Given the description of an element on the screen output the (x, y) to click on. 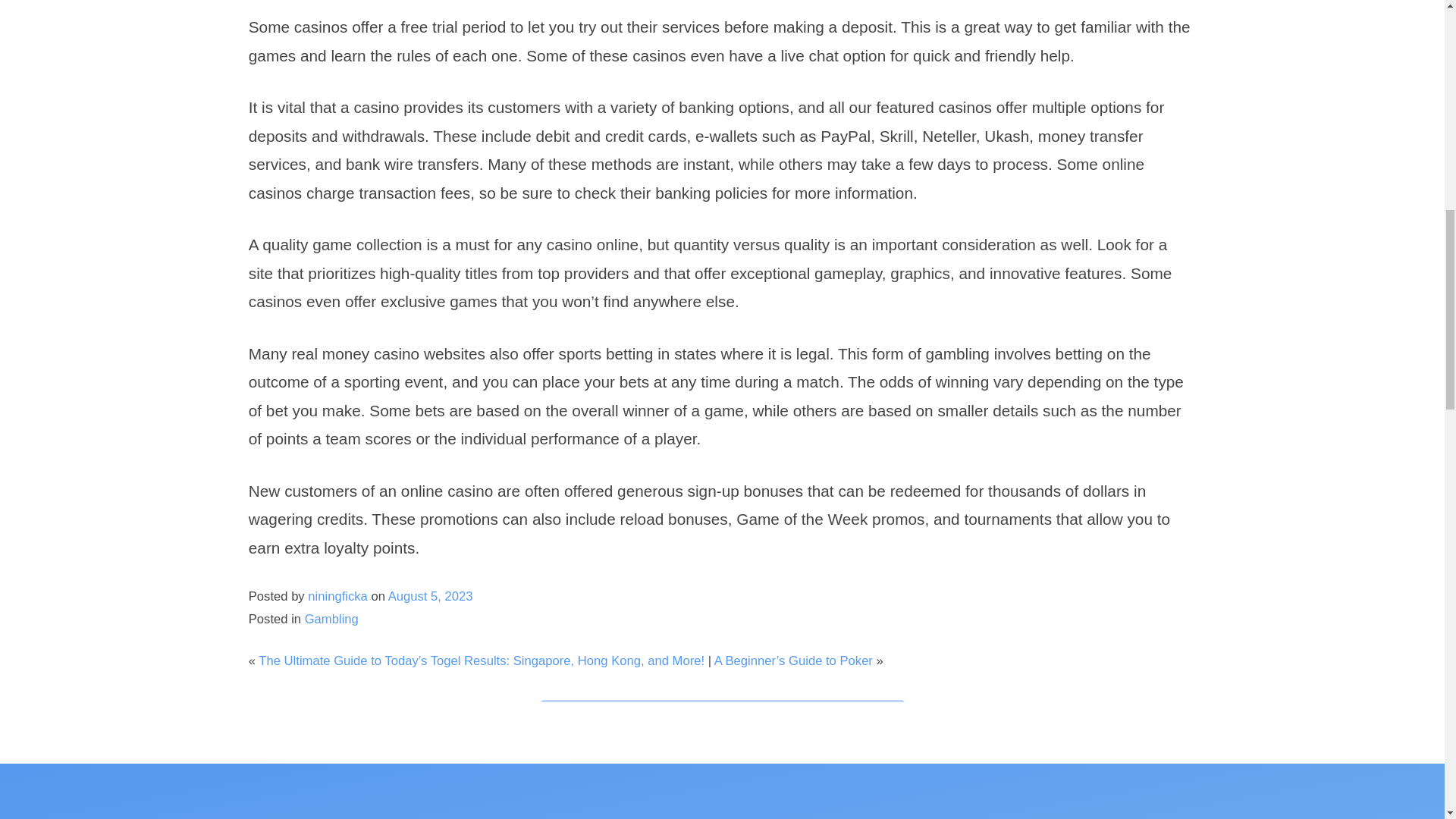
niningficka (337, 595)
Gambling (331, 618)
August 5, 2023 (430, 595)
